Given the description of an element on the screen output the (x, y) to click on. 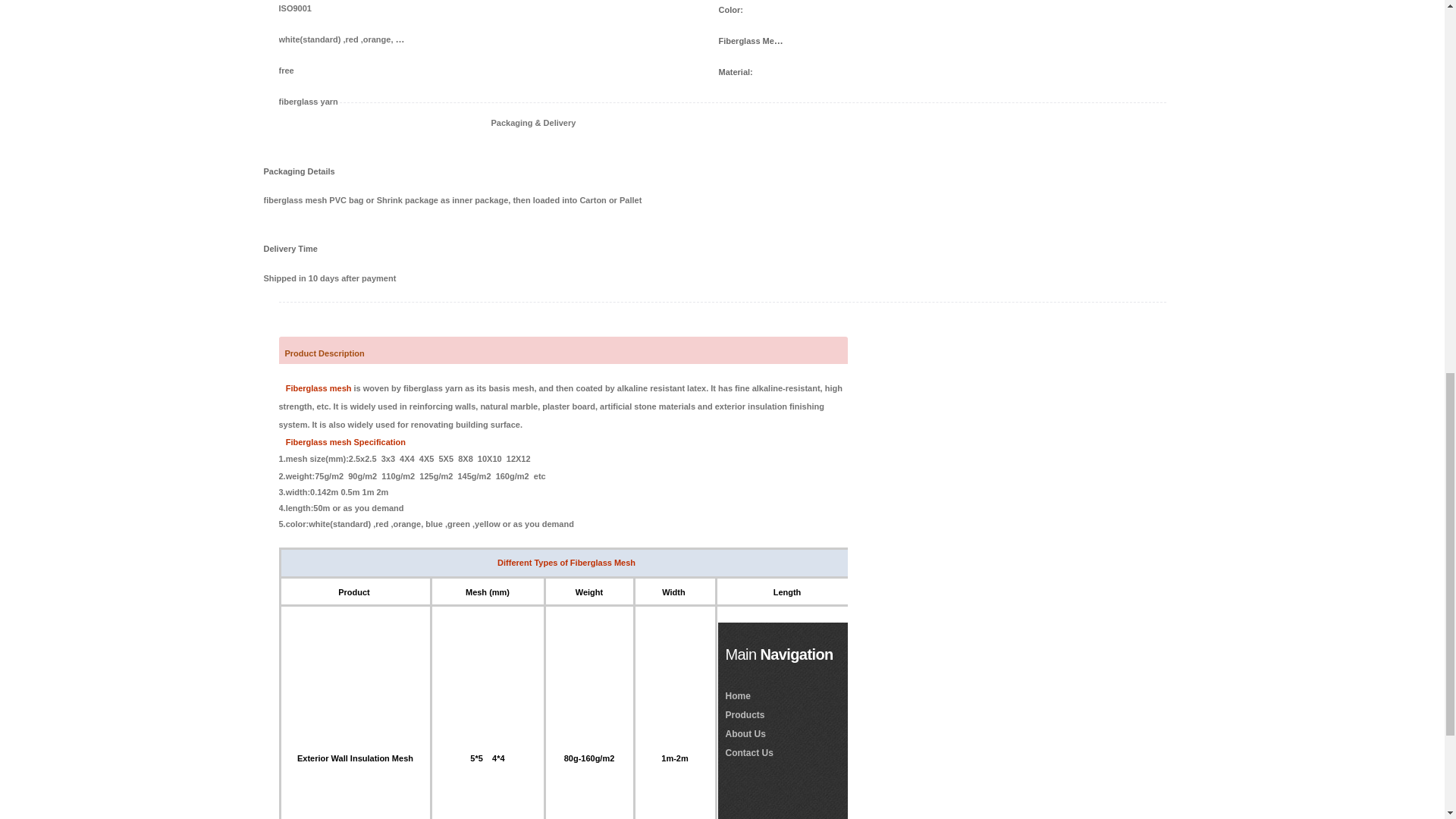
Packaging Details (301, 169)
ISO9001 (343, 8)
About Us (745, 733)
Shipped in 10 days after payment (721, 277)
Home (737, 695)
Contact Us (749, 752)
fiberglass yarn (343, 100)
free (343, 70)
Products (744, 715)
Delivery Time (301, 248)
